Given the description of an element on the screen output the (x, y) to click on. 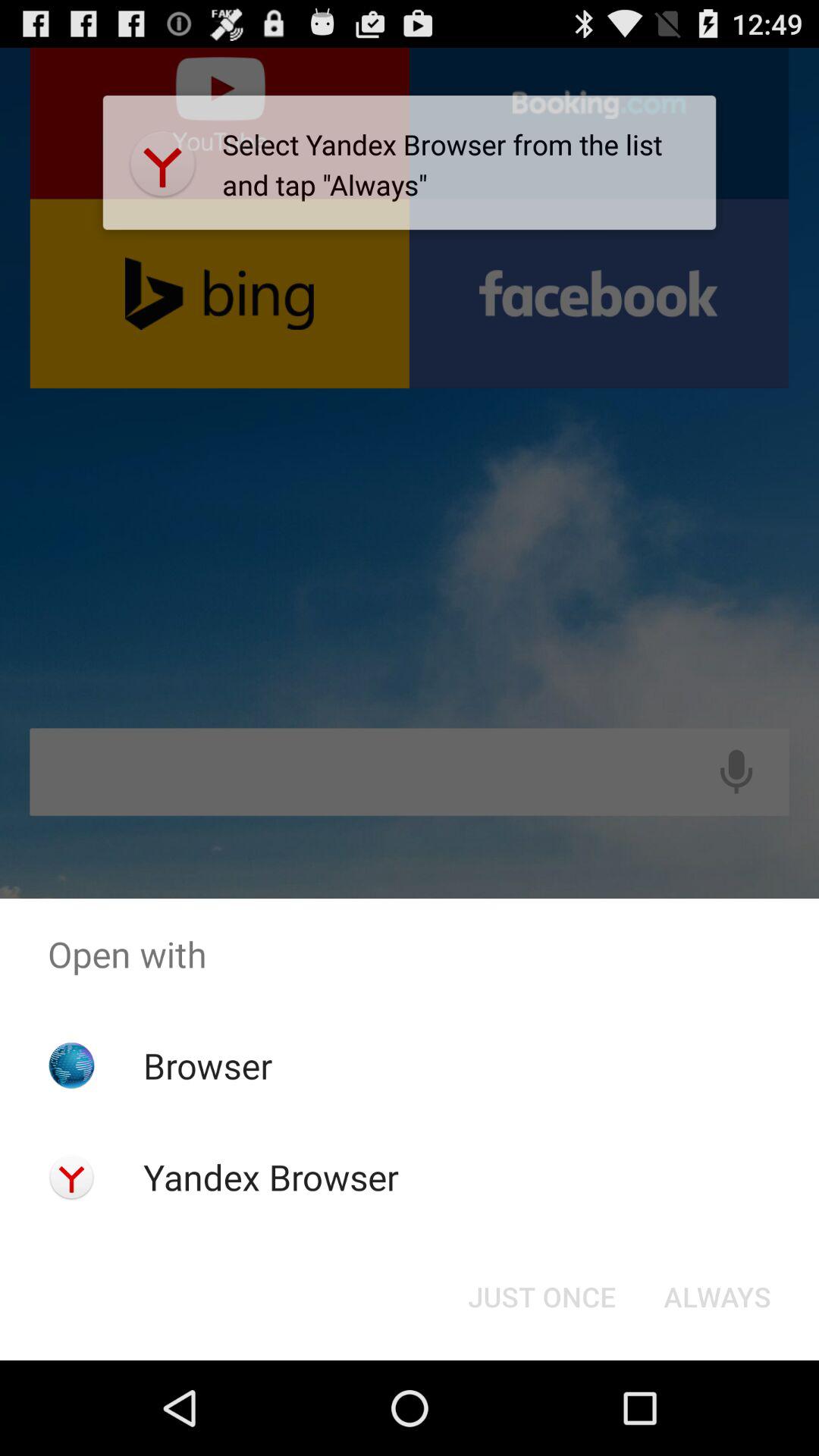
select item to the right of just once item (717, 1296)
